Given the description of an element on the screen output the (x, y) to click on. 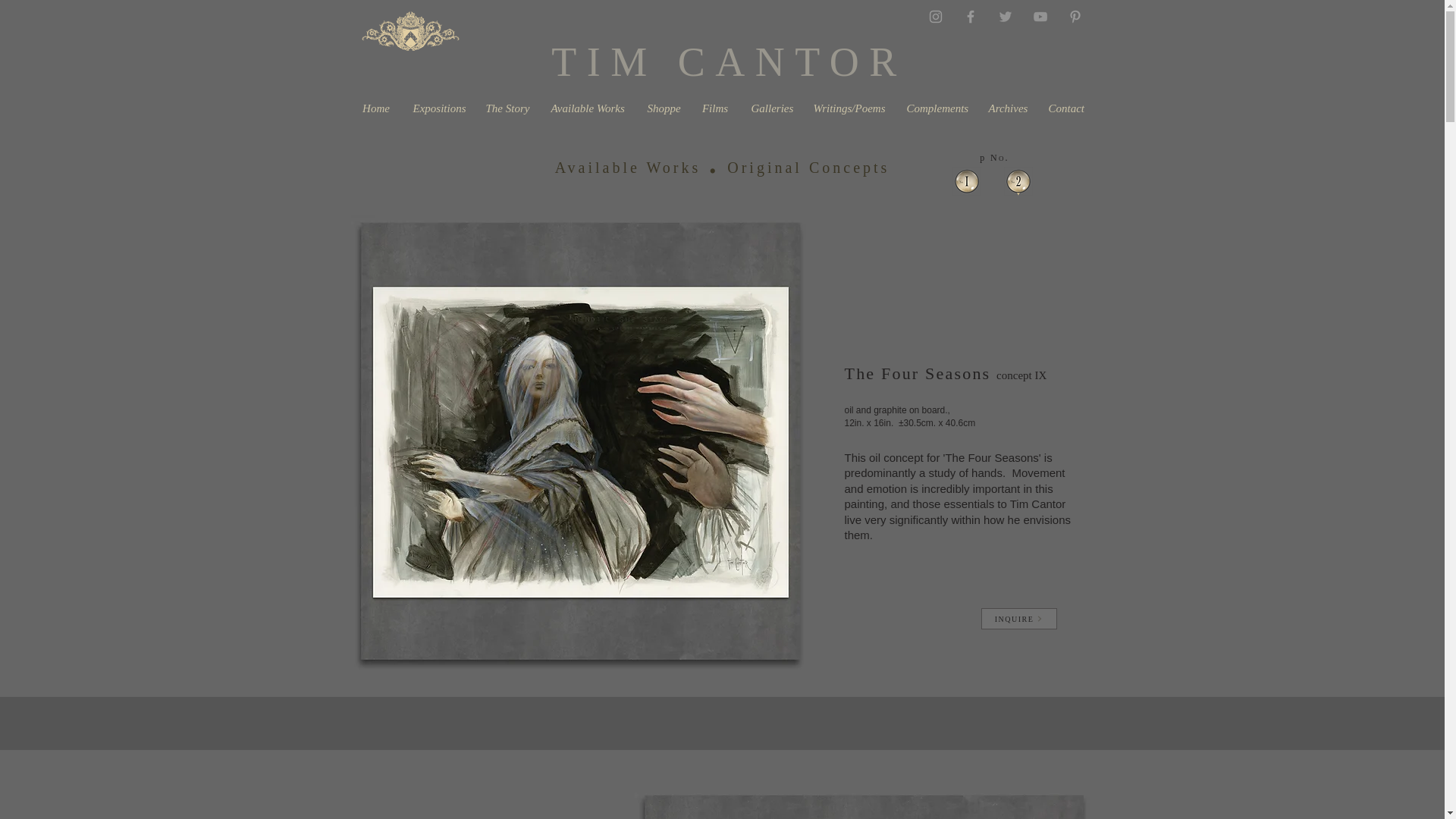
Shoppe (662, 108)
INQUIRE (1019, 618)
Galleries (770, 108)
Expositions (437, 108)
Complements (935, 108)
Archives (1006, 108)
Available Works (588, 108)
Films (714, 108)
The Story (507, 108)
Contact (1065, 108)
